Given the description of an element on the screen output the (x, y) to click on. 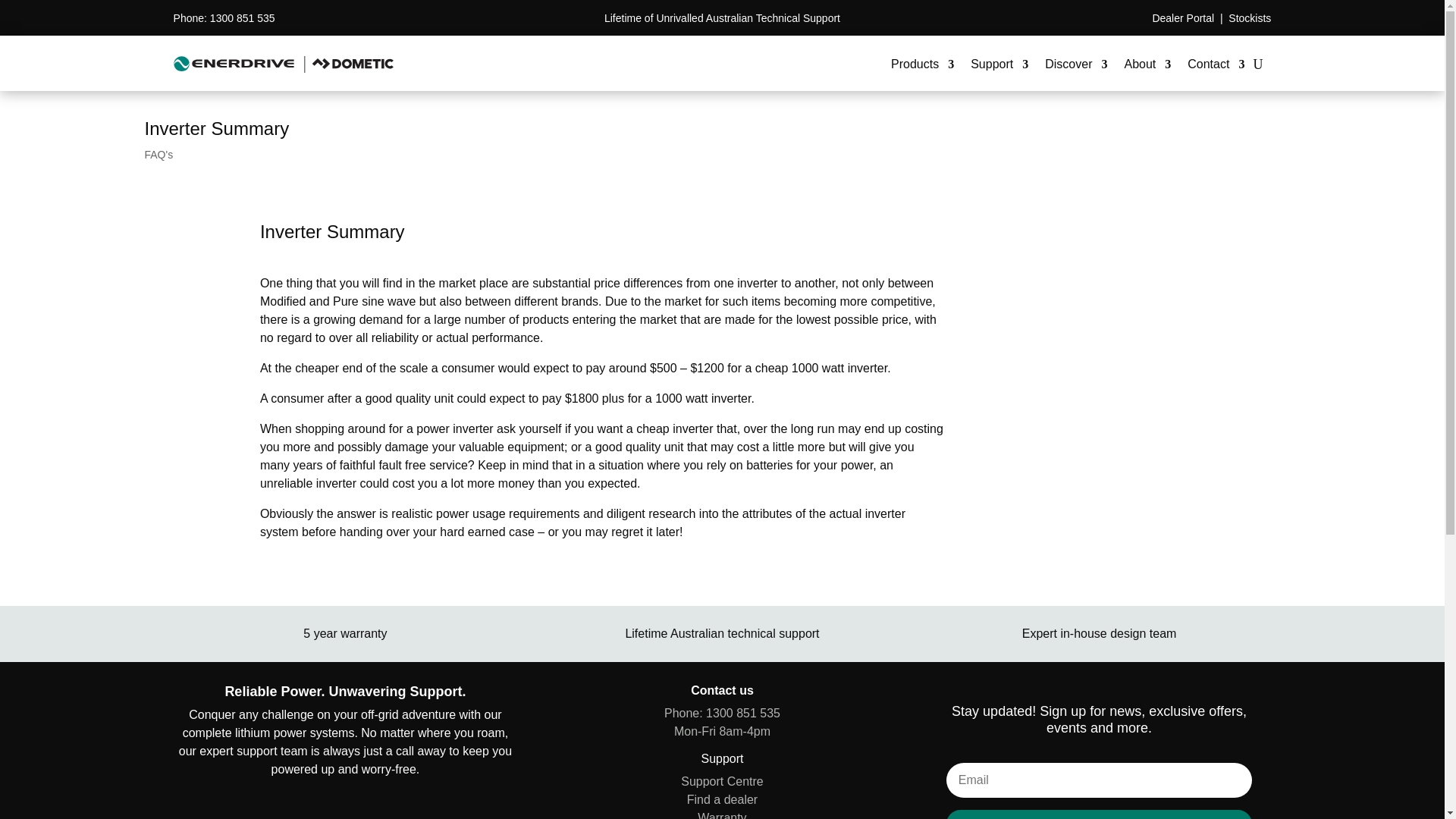
Dealer Portal (1182, 18)
1300 851 535 (242, 18)
Stockists (1249, 18)
Products (922, 64)
